Given the description of an element on the screen output the (x, y) to click on. 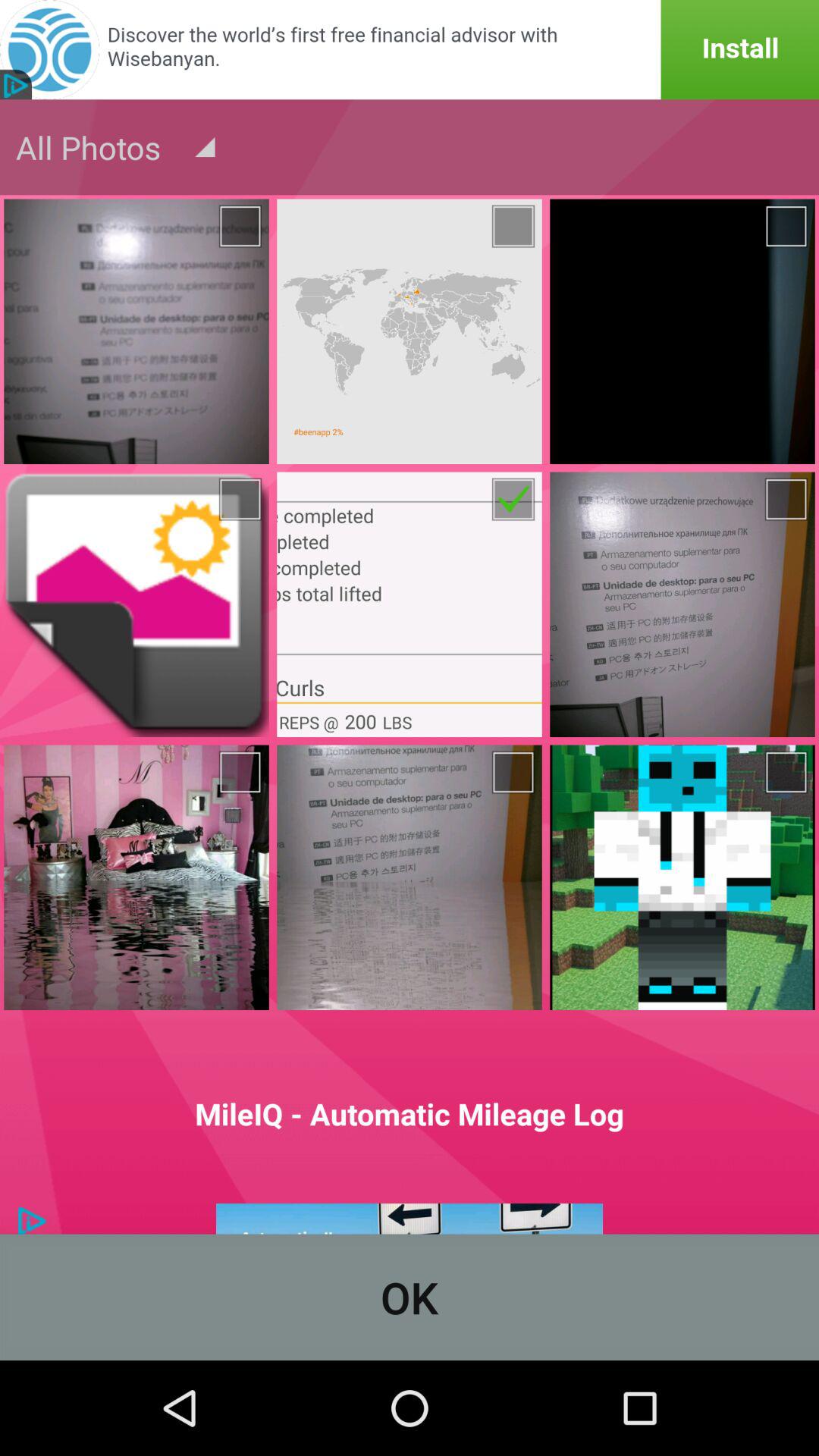
click the install option (409, 49)
